Given the description of an element on the screen output the (x, y) to click on. 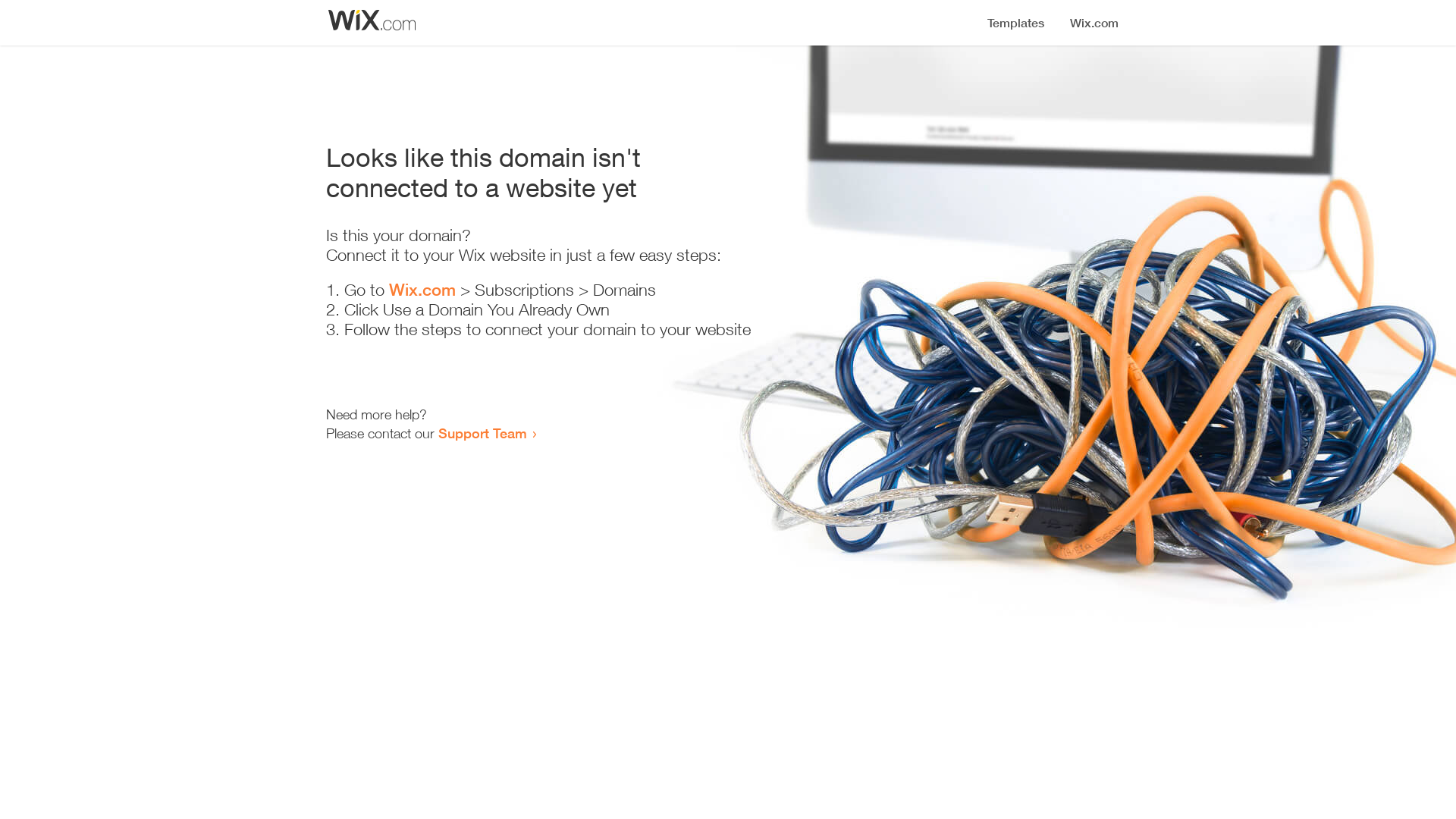
Support Team Element type: text (482, 432)
Wix.com Element type: text (422, 289)
